Given the description of an element on the screen output the (x, y) to click on. 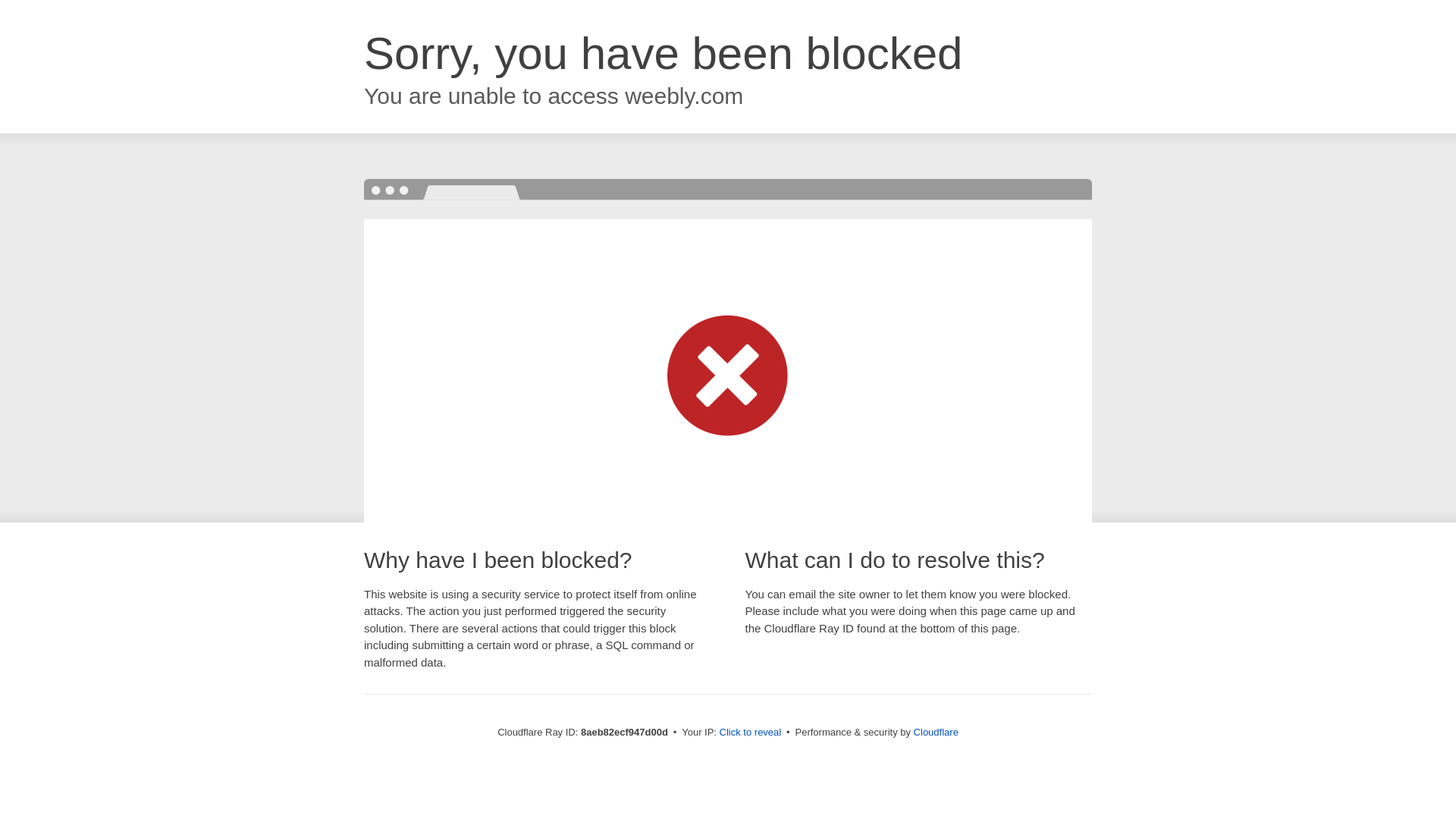
Cloudflare (936, 731)
Click to reveal (750, 732)
